Given the description of an element on the screen output the (x, y) to click on. 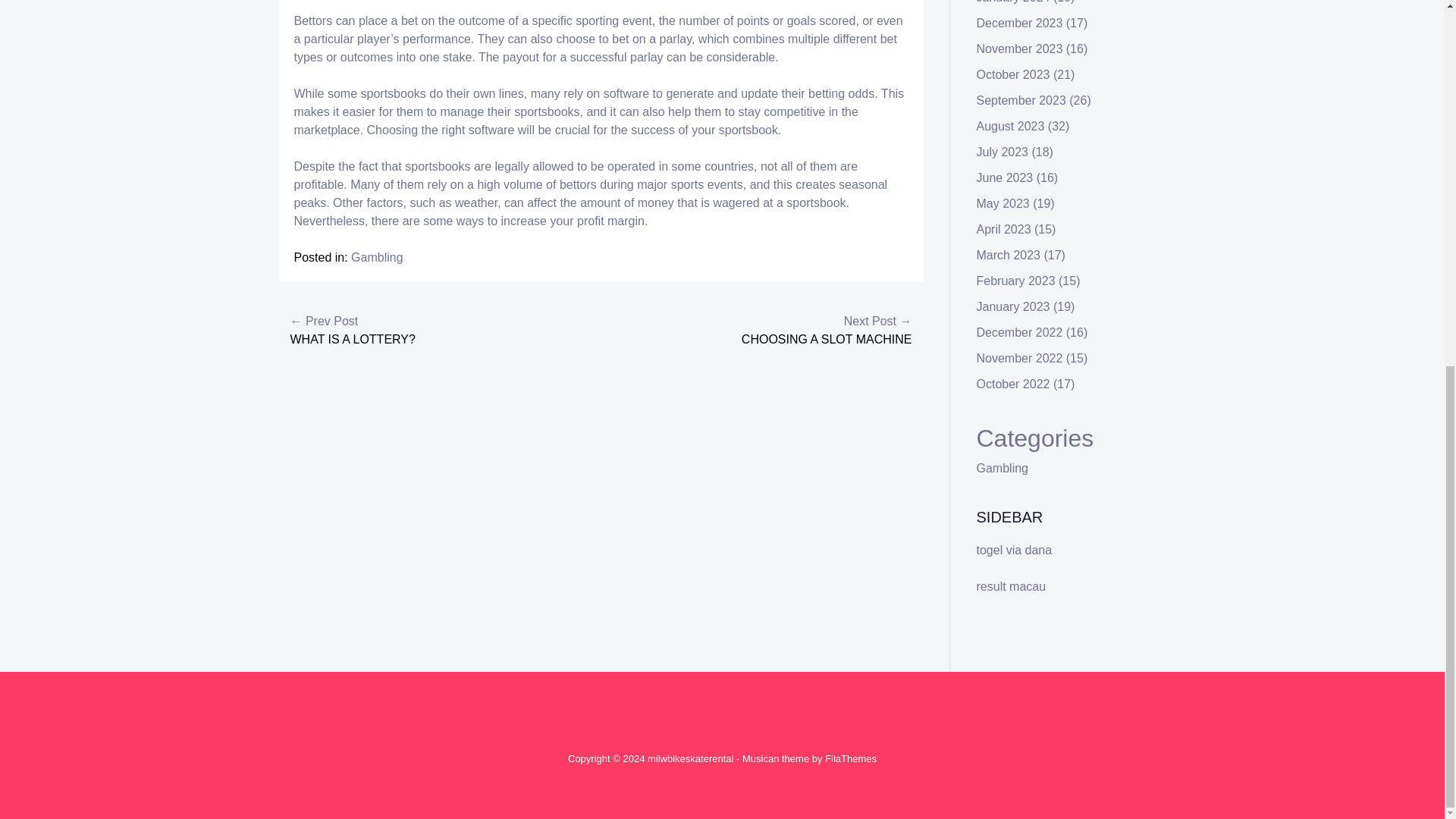
February 2023 (1015, 280)
July 2023 (1002, 151)
Gambling (1001, 468)
result macau (1011, 585)
January 2023 (1012, 306)
December 2023 (1019, 22)
September 2023 (1020, 100)
November 2022 (1019, 358)
March 2023 (1008, 254)
November 2023 (1019, 48)
